Given the description of an element on the screen output the (x, y) to click on. 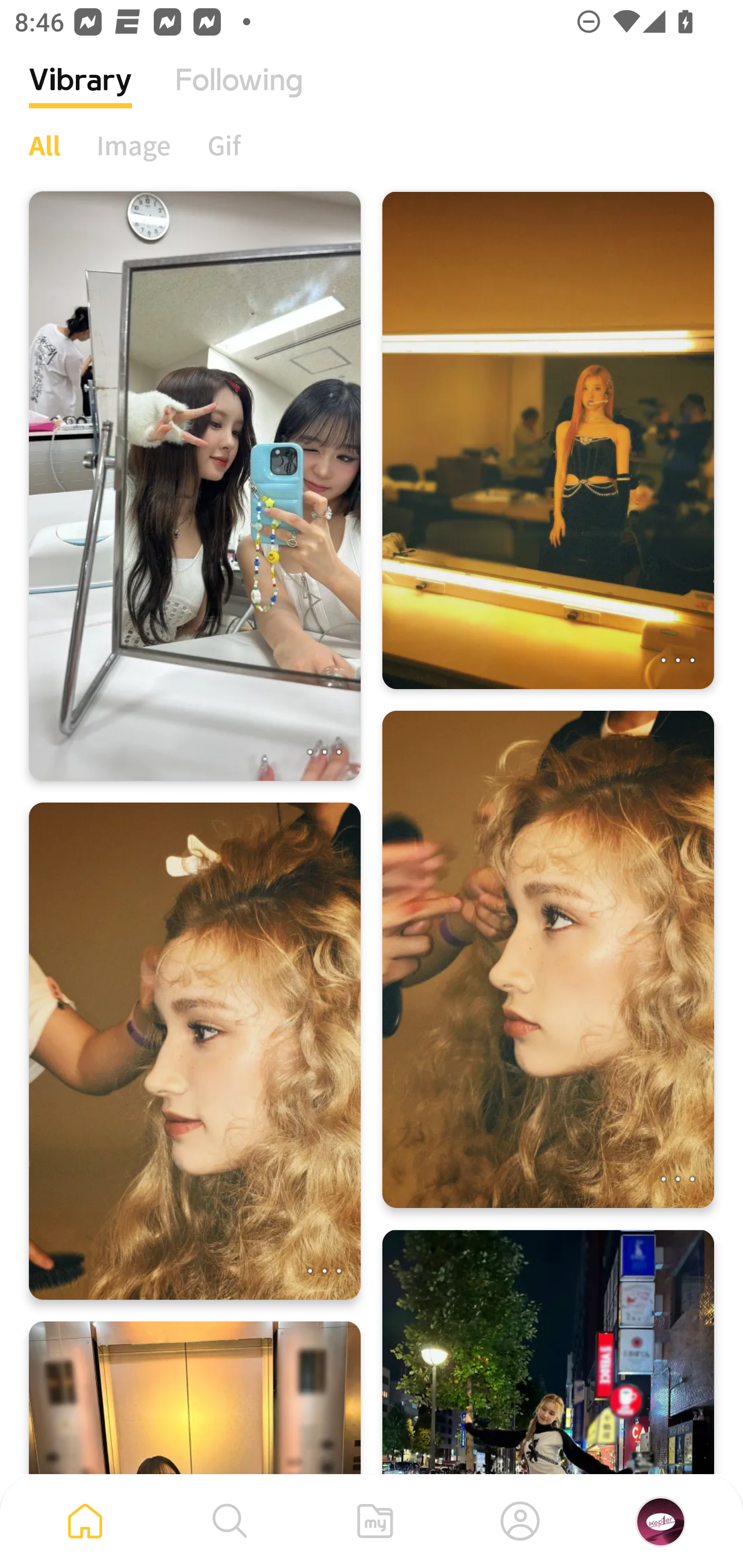
Vibrary (80, 95)
Following (239, 95)
All (44, 145)
Image (133, 145)
Gif (223, 145)
